Given the description of an element on the screen output the (x, y) to click on. 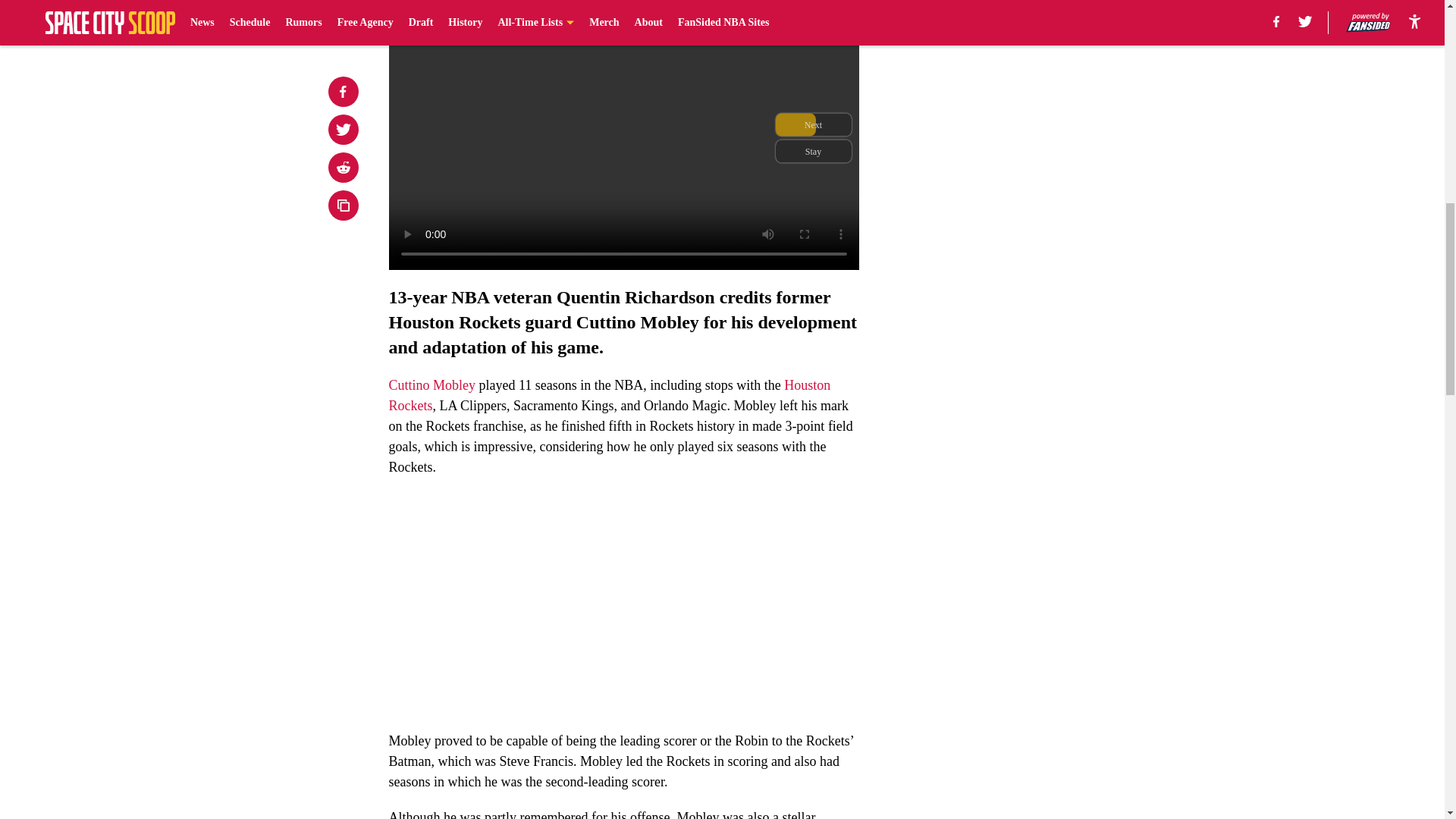
Cuttino Mobley (432, 385)
Houston Rockets (608, 395)
3rd party ad content (1047, 320)
3rd party ad content (1047, 100)
